Given the description of an element on the screen output the (x, y) to click on. 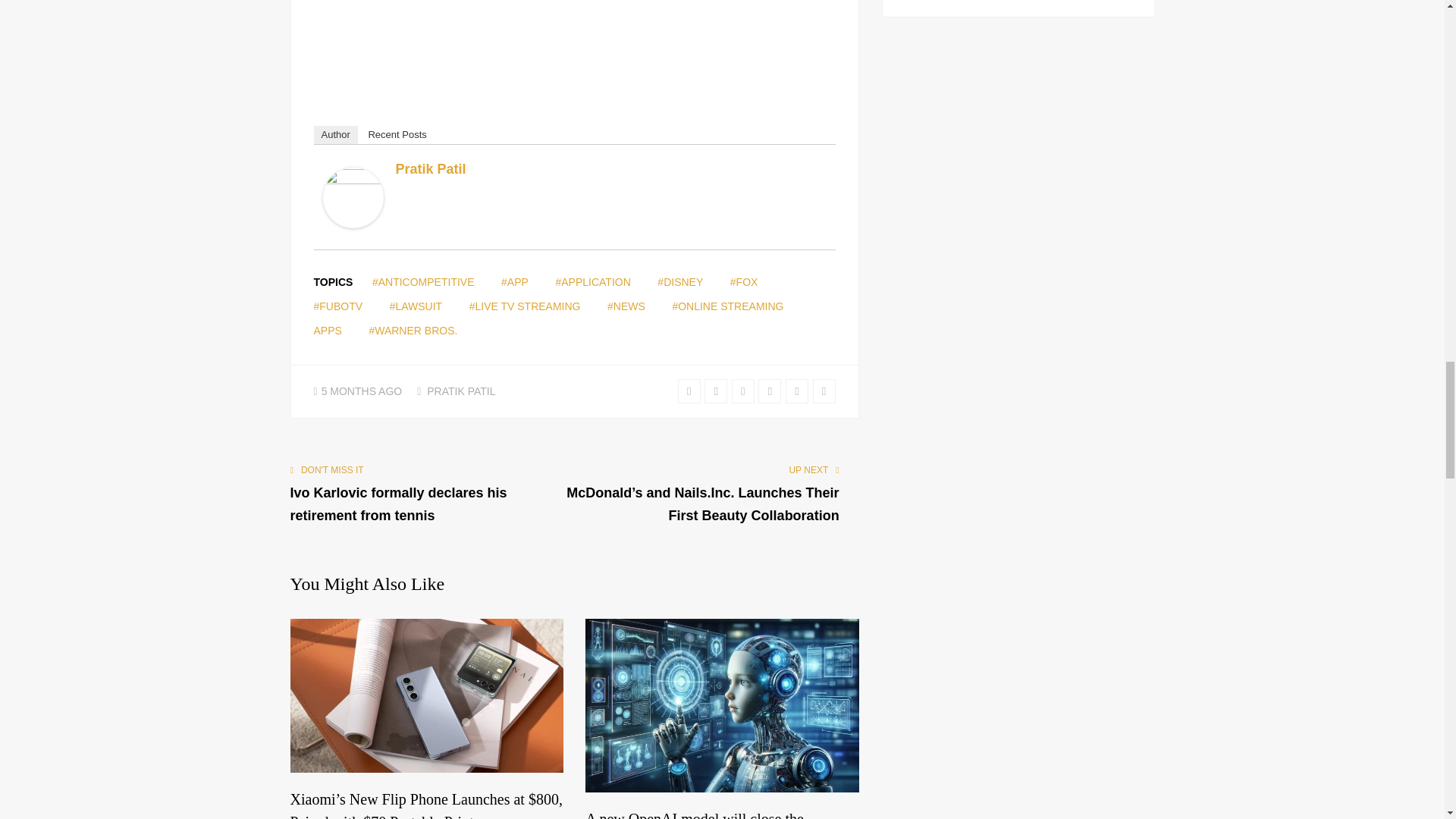
Pratik Patil (430, 168)
Author (336, 135)
Pratik Patil (353, 222)
Advertisement (574, 47)
Recent Posts (396, 135)
